Given the description of an element on the screen output the (x, y) to click on. 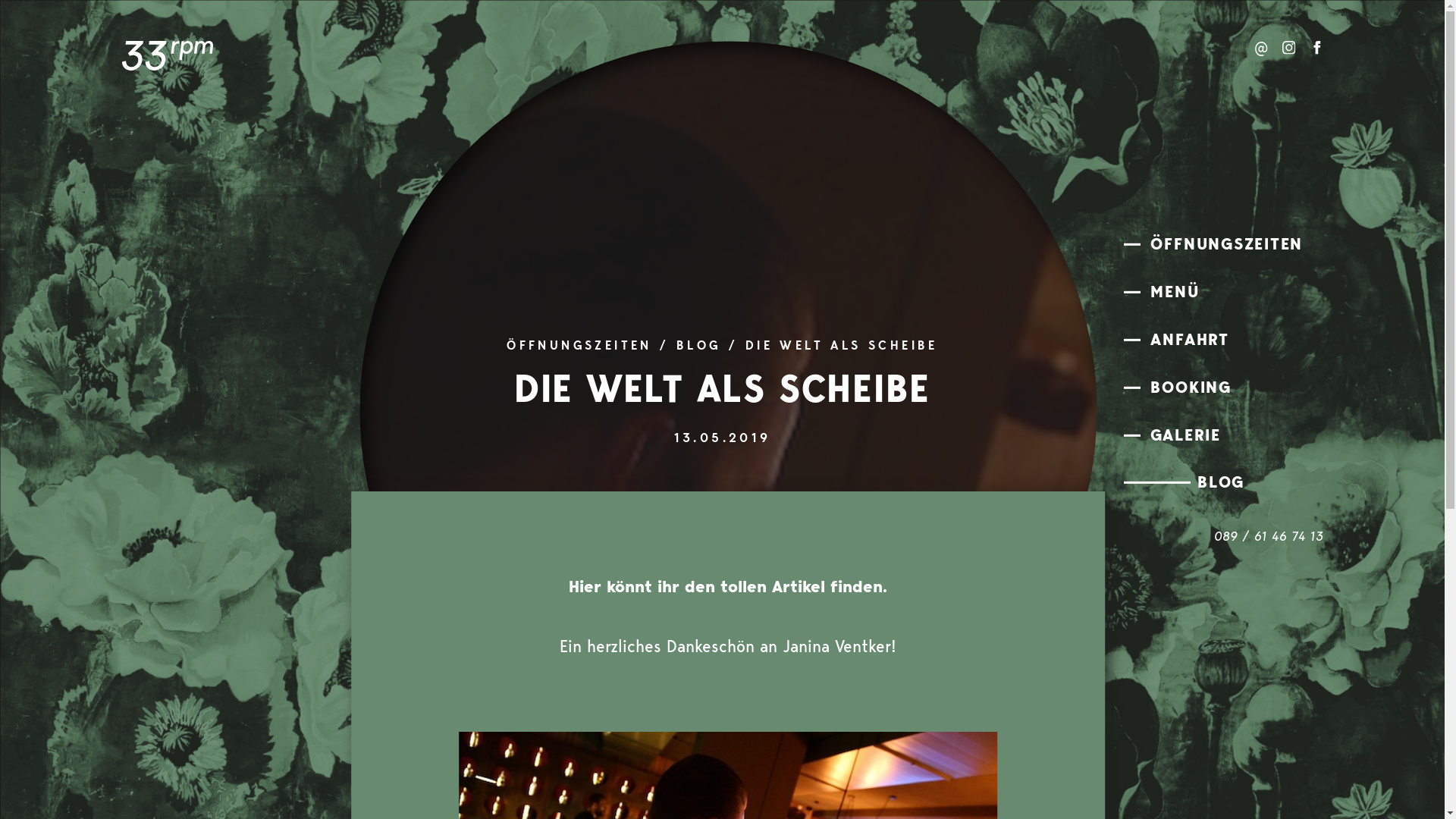
@ Element type: text (1260, 49)
BLOG Element type: text (1273, 483)
ANFAHRT Element type: text (1226, 340)
BLOG Element type: text (698, 346)
GALERIE Element type: text (1226, 435)
DIE WELT ALS SCHEIBE Element type: text (841, 346)
BOOKING Element type: text (1226, 388)
